Given the description of an element on the screen output the (x, y) to click on. 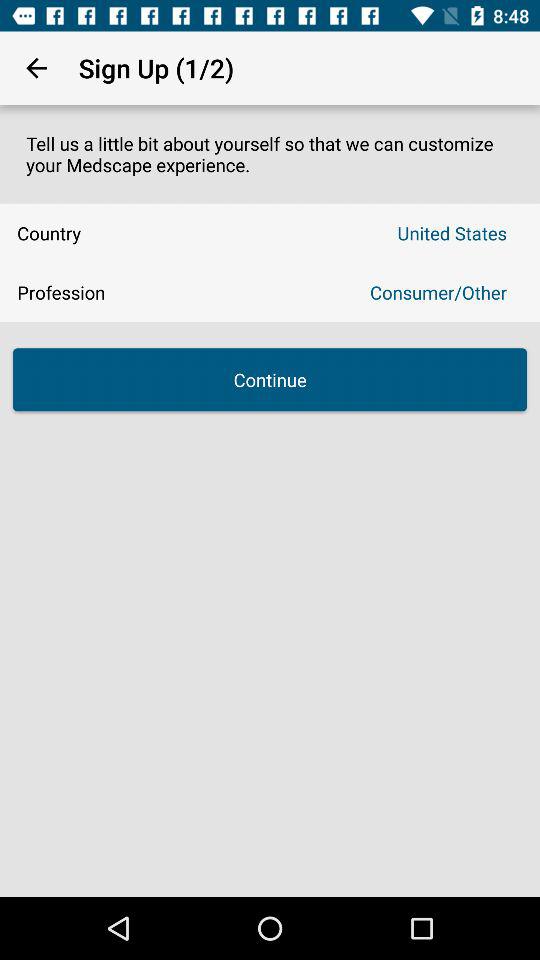
turn off the item above tell us a item (36, 68)
